Given the description of an element on the screen output the (x, y) to click on. 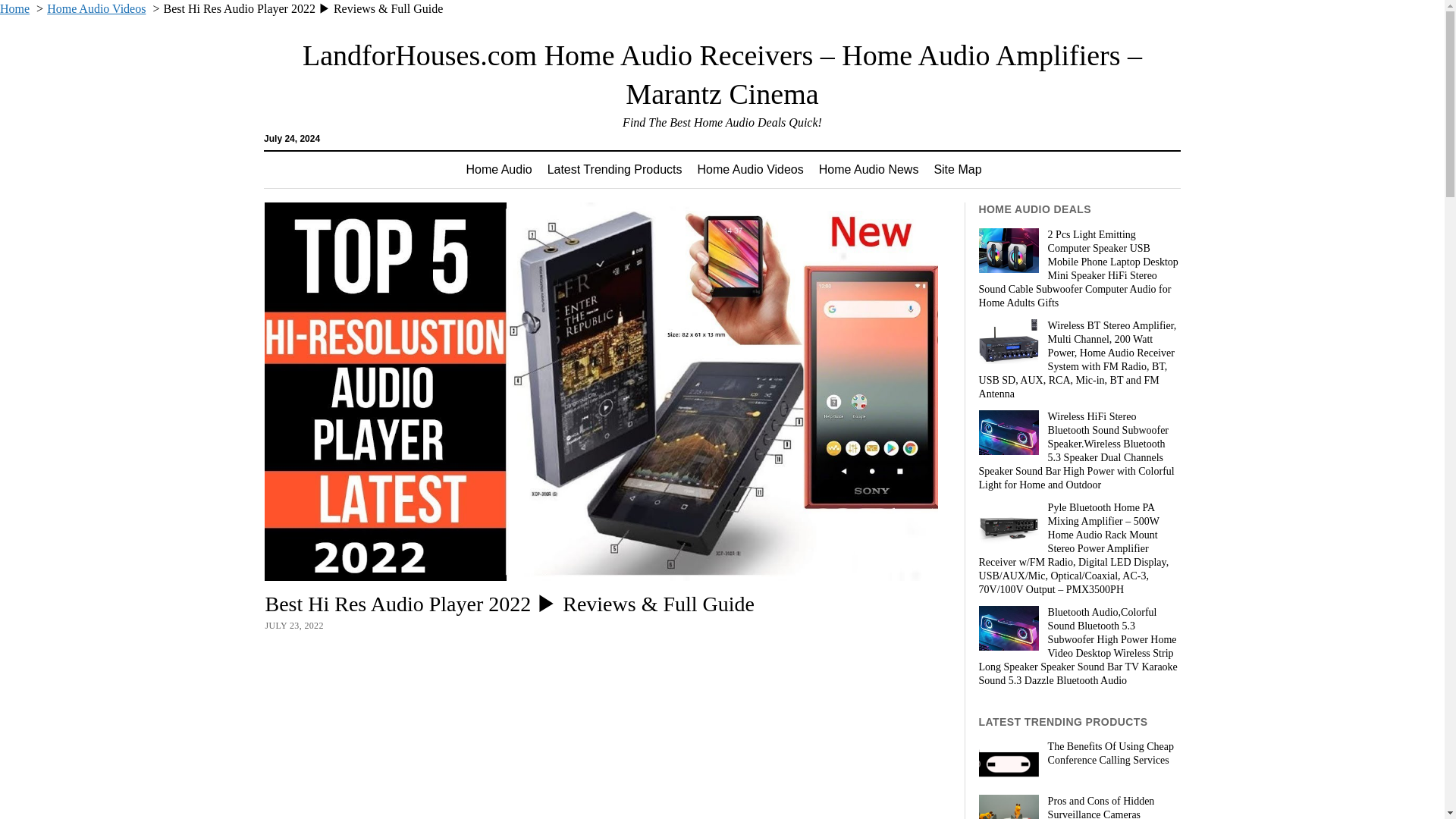
Home Audio News (868, 169)
Site Map (957, 169)
Home Audio (498, 169)
Pros and Cons of Hidden Surveillance Cameras (1078, 806)
Latest Trending Products (614, 169)
The Benefits Of Using Cheap Conference Calling Services (1078, 753)
Home Audio Videos (95, 8)
Home (14, 8)
Home Audio Videos (750, 169)
